Given the description of an element on the screen output the (x, y) to click on. 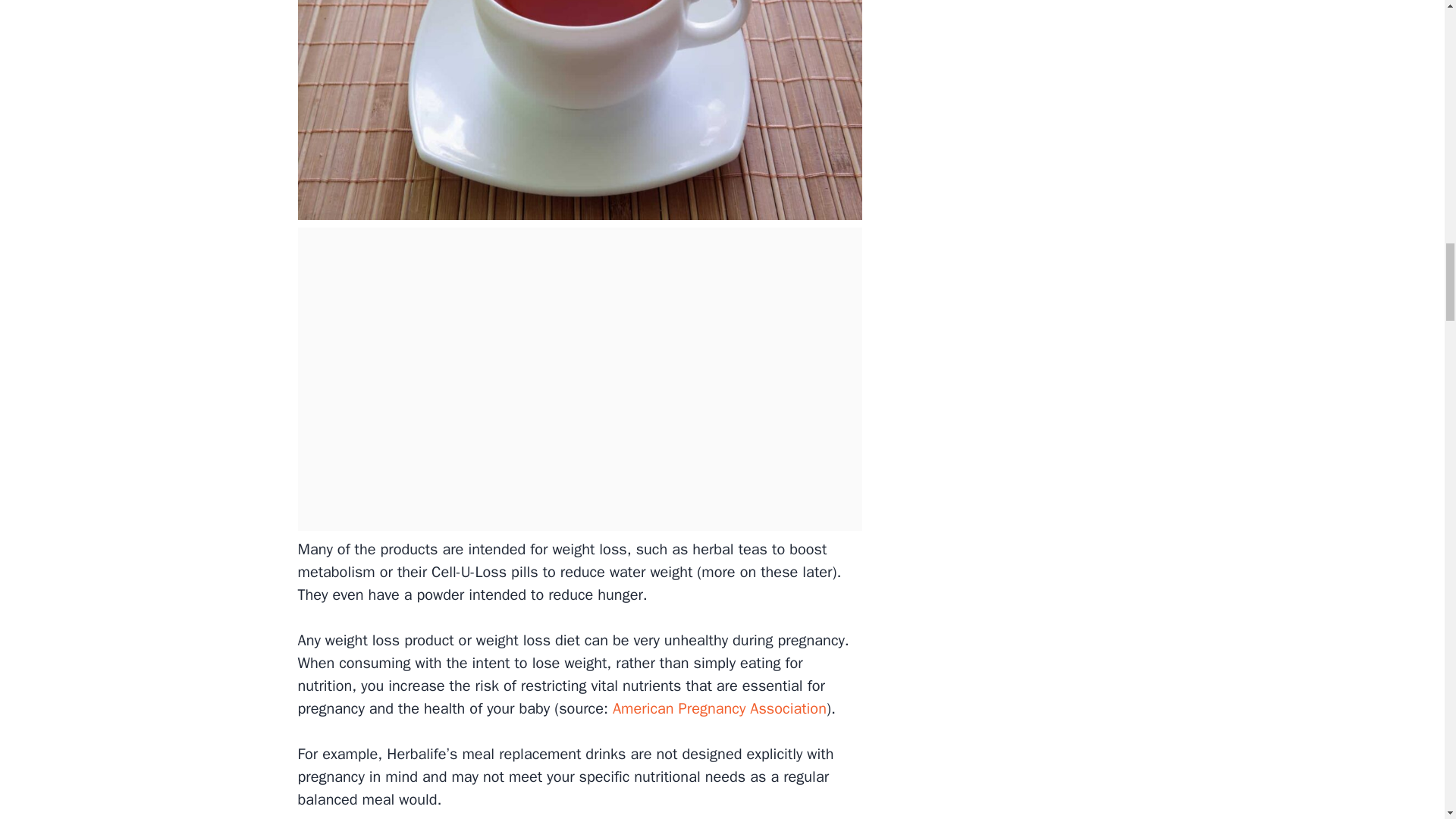
American Pregnancy Association (717, 708)
